Given the description of an element on the screen output the (x, y) to click on. 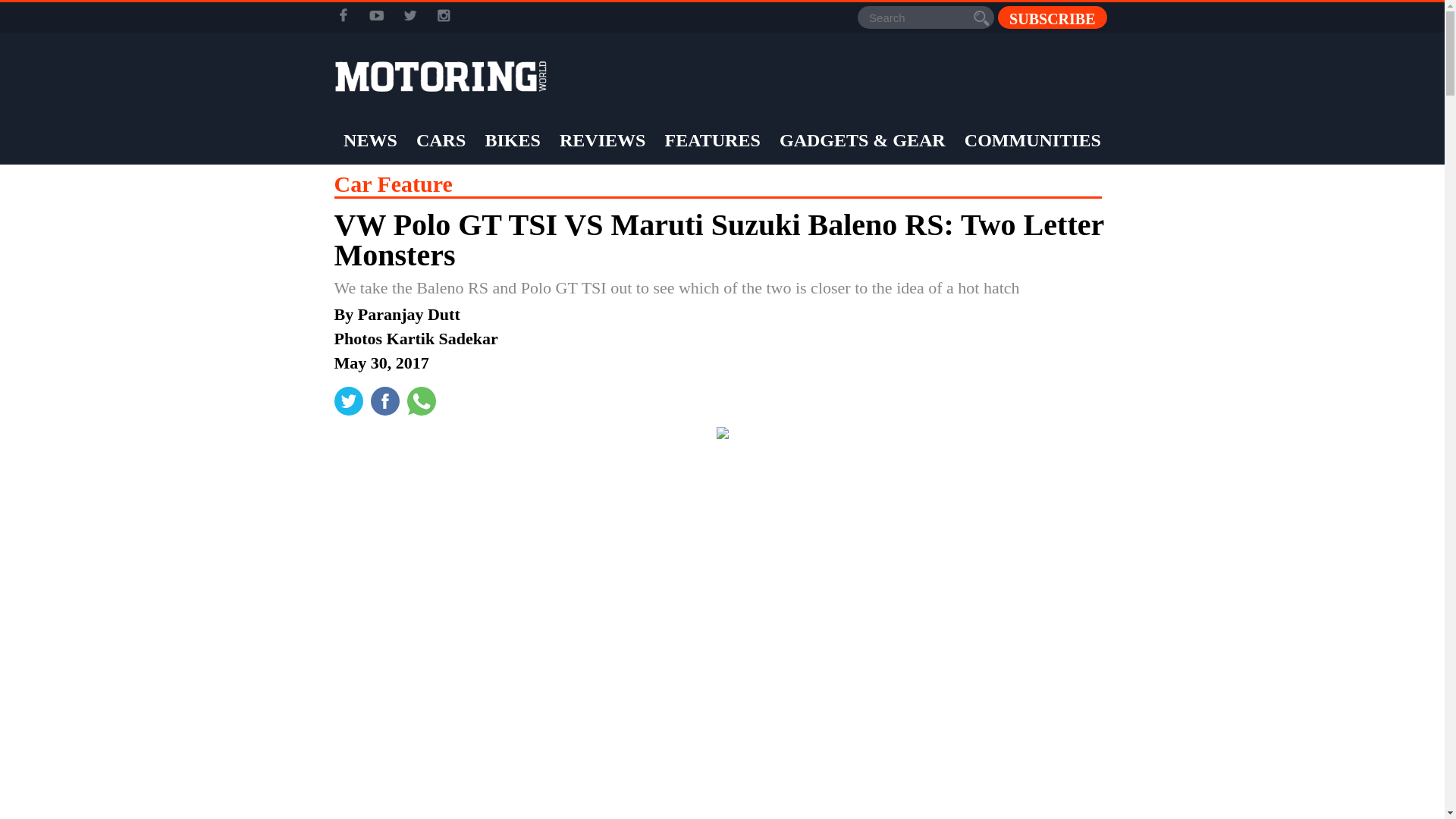
Kartik Sadekar (442, 338)
FEATURES (712, 140)
CARS (440, 140)
Car Feature (392, 183)
COMMUNITIES (1032, 140)
BIKES (511, 140)
REVIEWS (602, 140)
Posts by Paranjay Dutt (409, 313)
Paranjay Dutt (409, 313)
SUBSCRIBE (1051, 16)
